Given the description of an element on the screen output the (x, y) to click on. 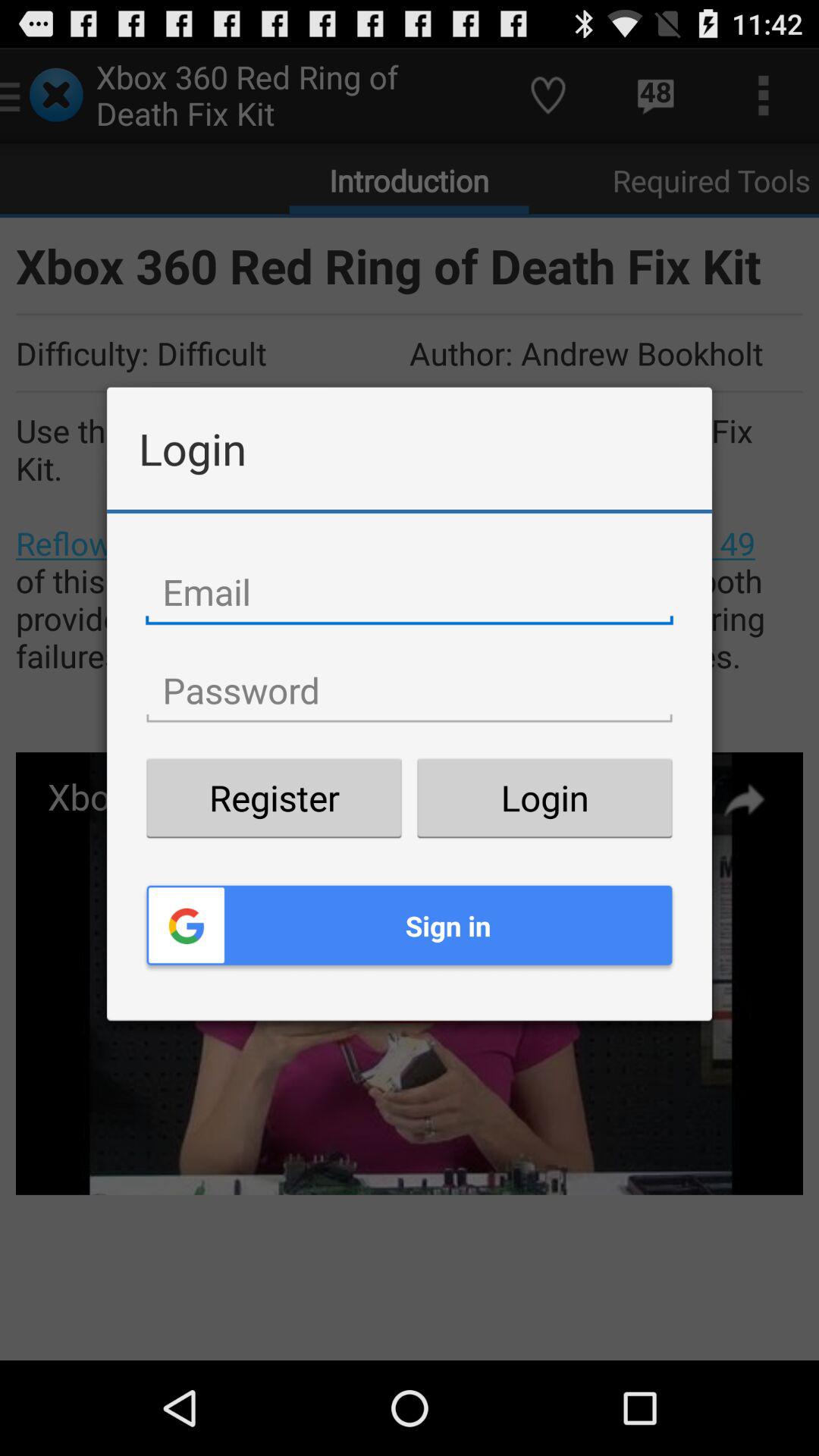
press item below register button (409, 925)
